Given the description of an element on the screen output the (x, y) to click on. 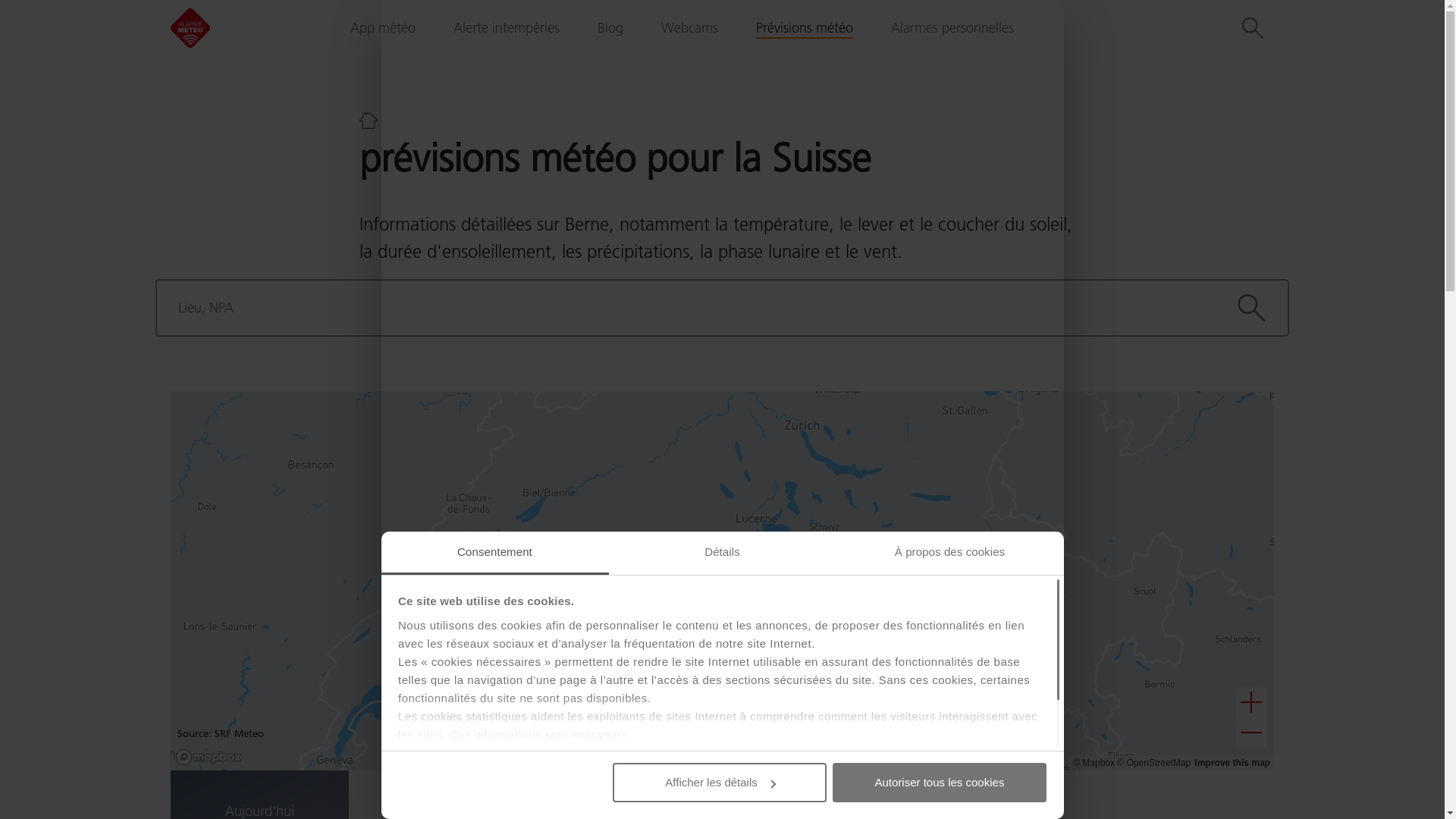
Zoom in Element type: hover (1251, 702)
Consentement Element type: text (494, 552)
Zoom out Element type: hover (1251, 732)
Alarmes personnelles Element type: text (952, 27)
Webcams Element type: text (689, 27)
Autoriser tous les cookies Element type: text (939, 781)
Blog Element type: text (610, 27)
